Given the description of an element on the screen output the (x, y) to click on. 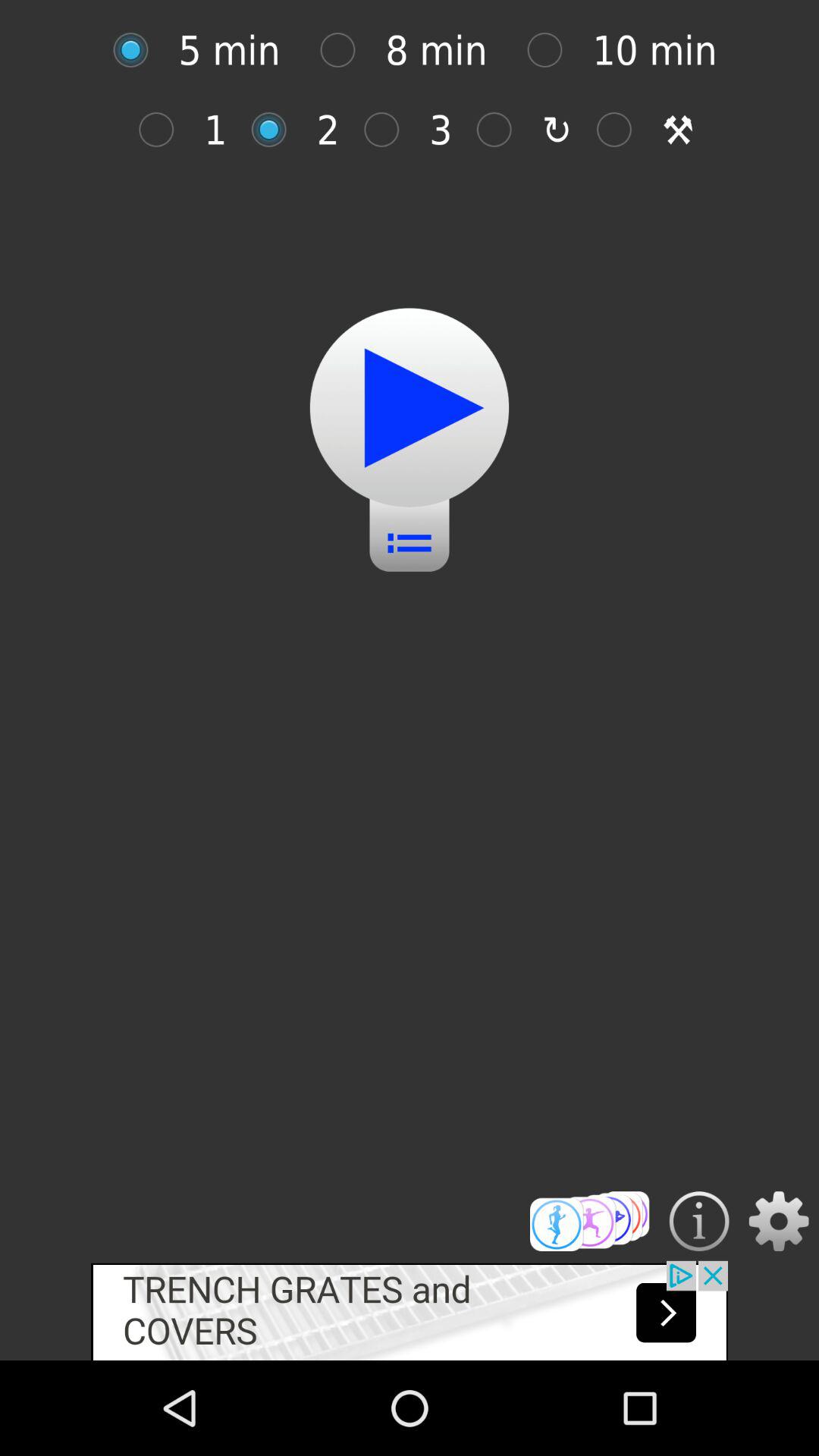
make selection (589, 1221)
